Given the description of an element on the screen output the (x, y) to click on. 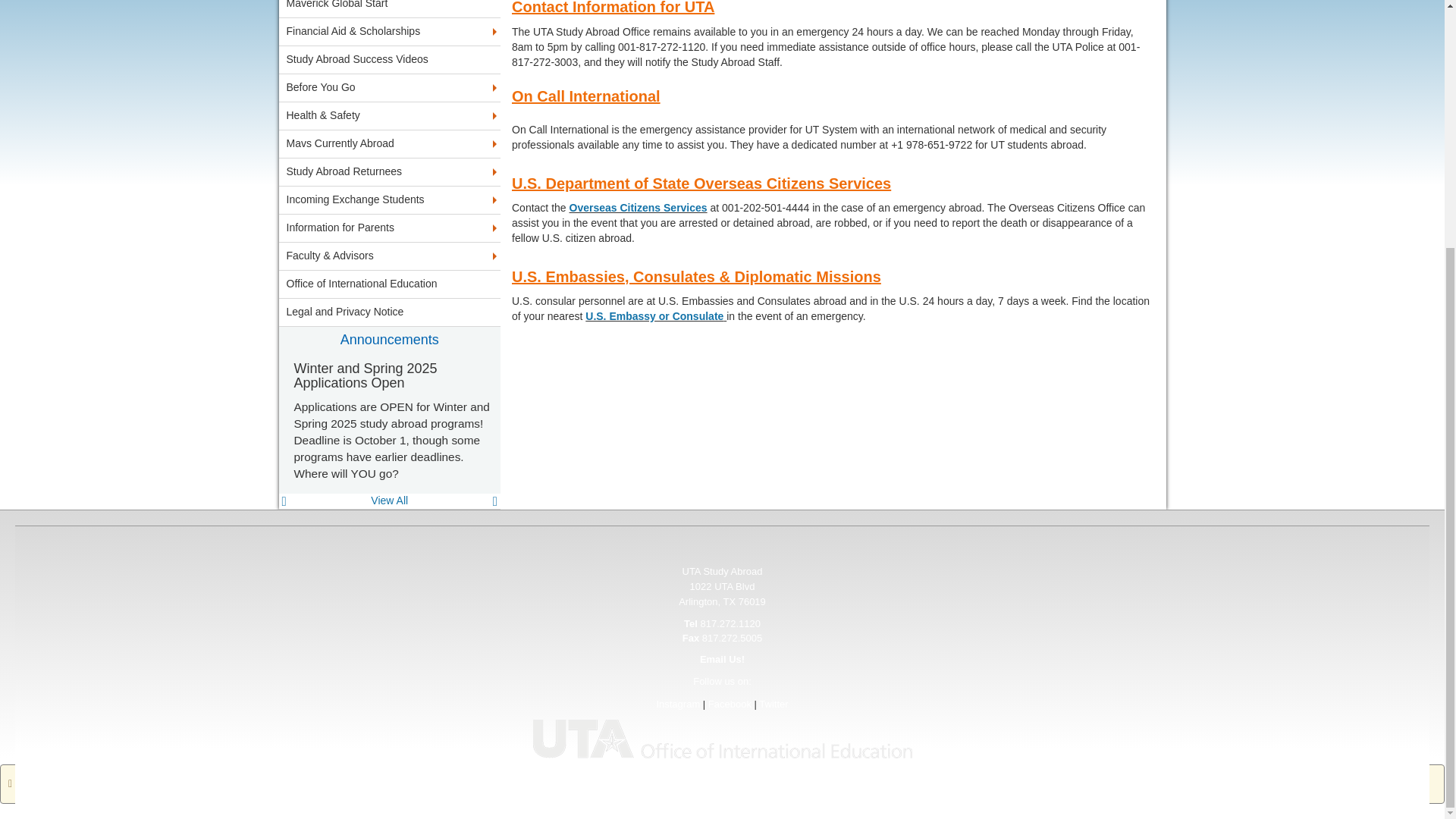
Study Abroad Success Videos (389, 59)
Before You Go (389, 87)
Read cookie policy (351, 437)
Maverick Global Start (389, 8)
